Given the description of an element on the screen output the (x, y) to click on. 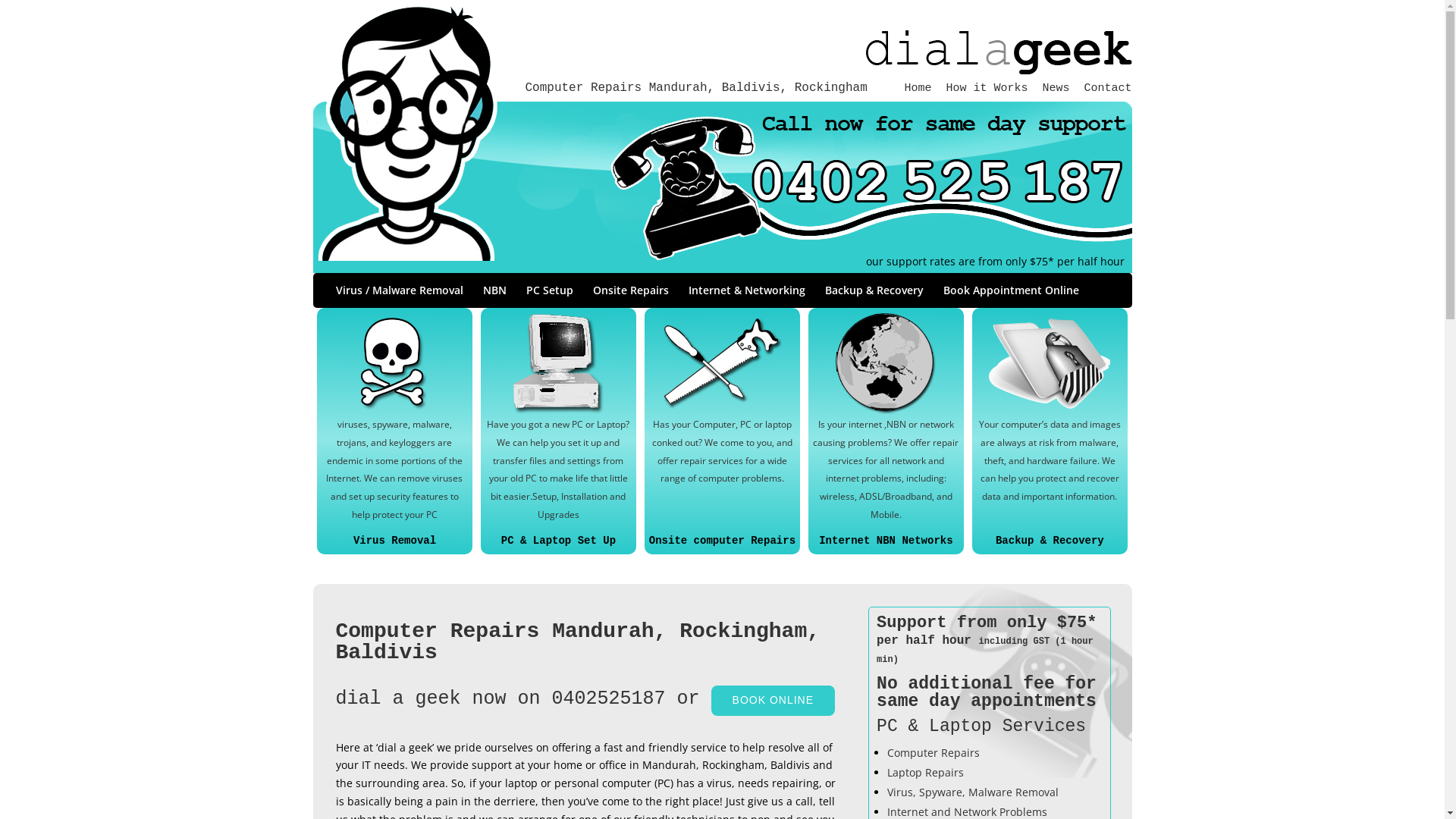
Internet NBN Networks Element type: text (885, 541)
PC & Laptop Set Up - Mandurah, Baldivis, Rockingham Element type: hover (557, 363)
Virus Removal Element type: text (394, 541)
Home Element type: text (917, 87)
Virus / Malware Removal Element type: text (398, 296)
Laptop Repairs Element type: text (925, 772)
Backup & Recovery - Rockingham Mandurah Baldivis Element type: hover (1049, 363)
News Element type: text (1055, 87)
NBN Element type: text (493, 296)
Onsite computer Repairs Element type: text (722, 541)
Internet & Networking Element type: text (746, 296)
Virus, Spyware, Malware Removal Element type: text (972, 791)
Computer Repairs - Mandurah Baldivis Rockingham Element type: hover (721, 363)
Setup, Installation and Upgrades Element type: text (578, 504)
How it Works Element type: text (986, 87)
viruses, spyware, malware - Mandurah, baldivis, Rockingham Element type: hover (394, 363)
Internet, NBN & Networks Element type: hover (885, 363)
Onsite Repairs Element type: text (630, 296)
PC Setup Element type: text (549, 296)
PC & Laptop Set Up Element type: text (558, 541)
Computer Repairs Element type: text (933, 752)
Contact Element type: text (1107, 87)
BOOK ONLINE Element type: text (772, 700)
Book Appointment Online Element type: text (1011, 296)
Backup & Recovery Element type: text (1049, 541)
Backup & Recovery Element type: text (874, 296)
